Given the description of an element on the screen output the (x, y) to click on. 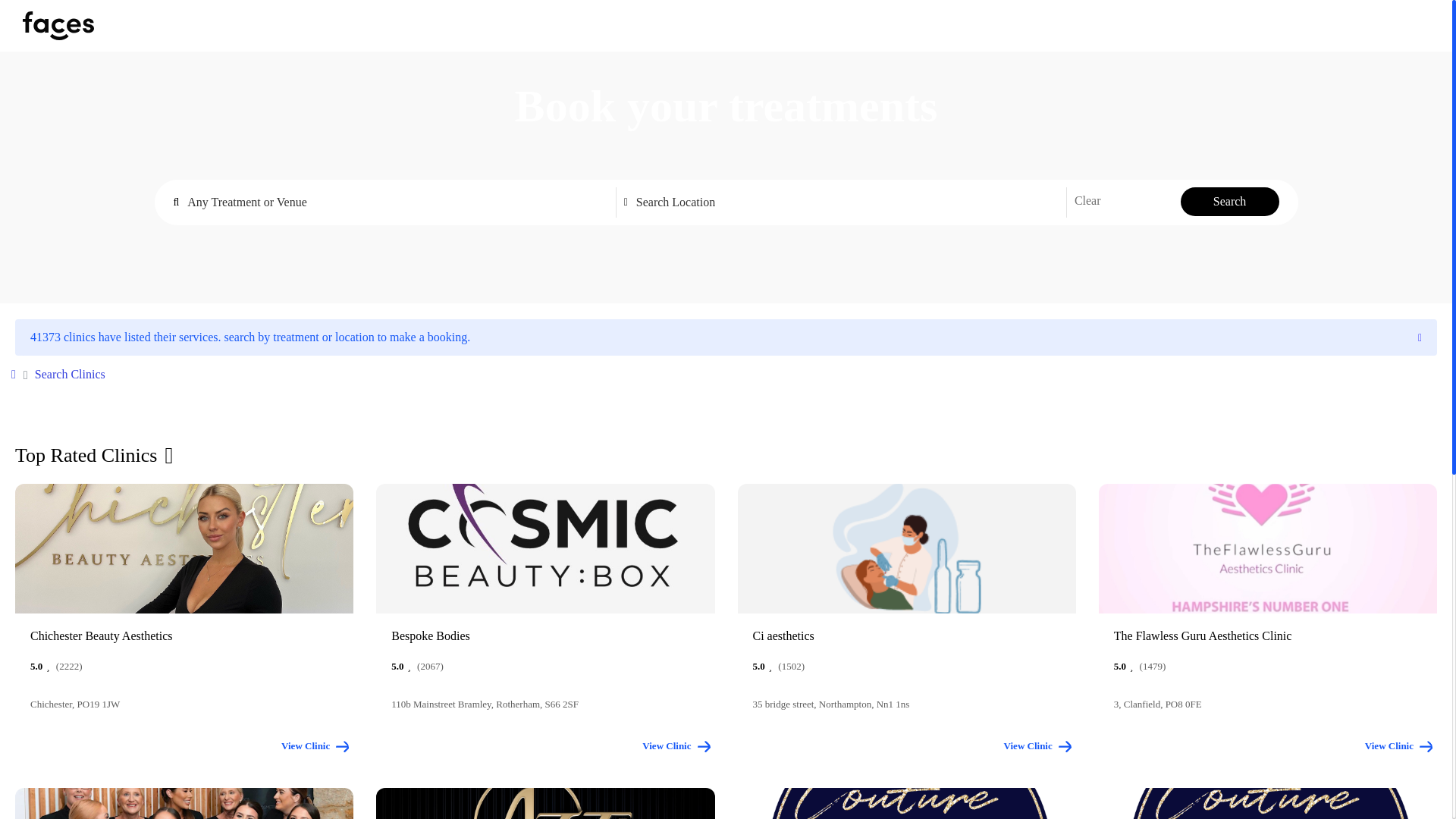
Clear (1087, 200)
Search (1229, 200)
Bespoke Bodies (544, 635)
Ci aesthetics (905, 635)
The Flawless  Guru Aesthetics Clinic (1267, 635)
Chichester Beauty Aesthetics (183, 635)
